Given the description of an element on the screen output the (x, y) to click on. 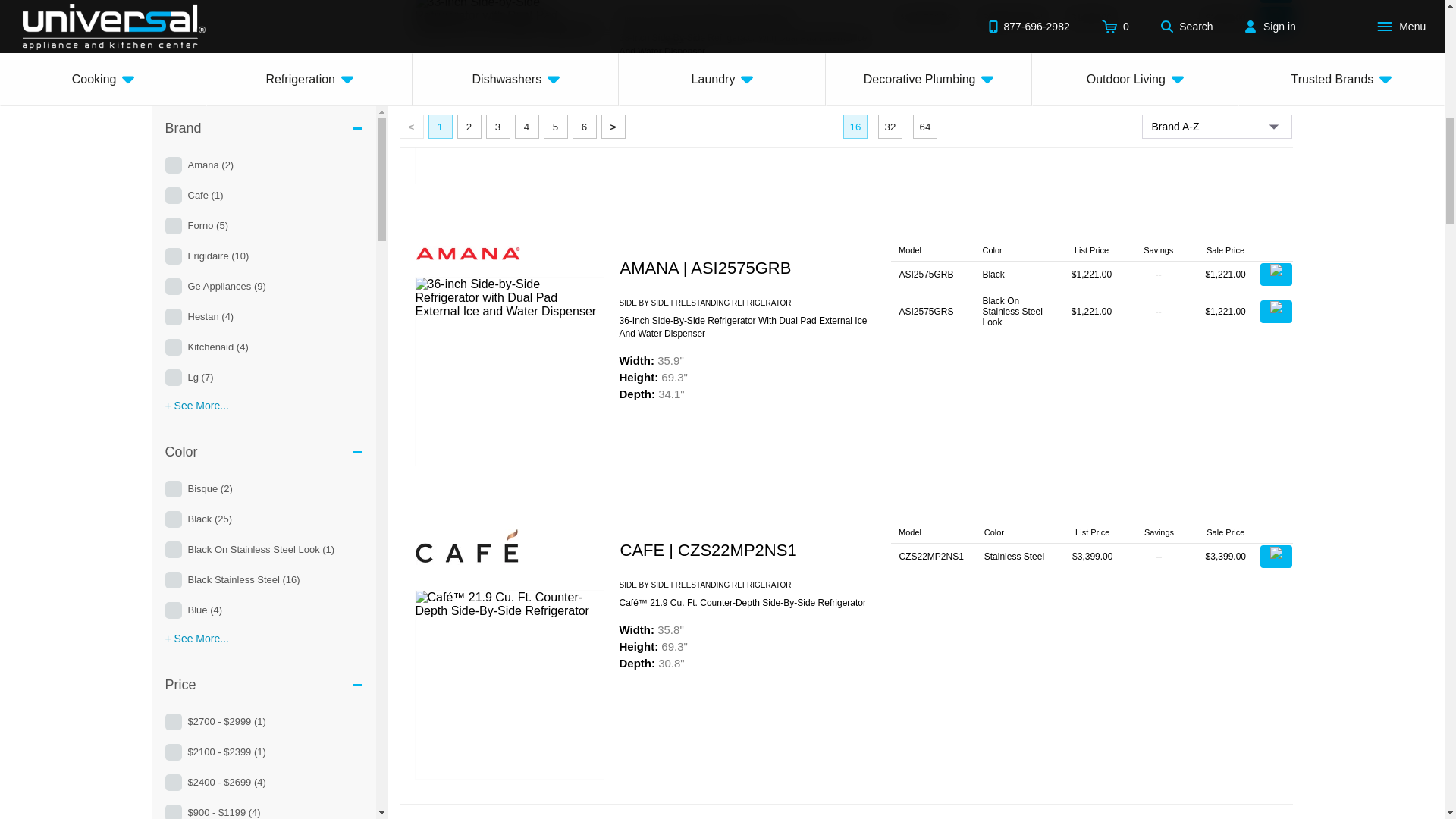
Add to cart (1276, 1)
Add to cart (1276, 17)
ASI2175GRS Stainless Steel (1091, 17)
CZS22MP2NS1 Stainless Steel (1091, 556)
ASI2575GRS Black On Stainless Steel Look (1091, 310)
ASI2575GRB Black (1091, 274)
Add to cart (1276, 556)
Add to cart (1276, 311)
Add to cart (1276, 273)
ASI2175GRB Black (1091, 2)
